Given the description of an element on the screen output the (x, y) to click on. 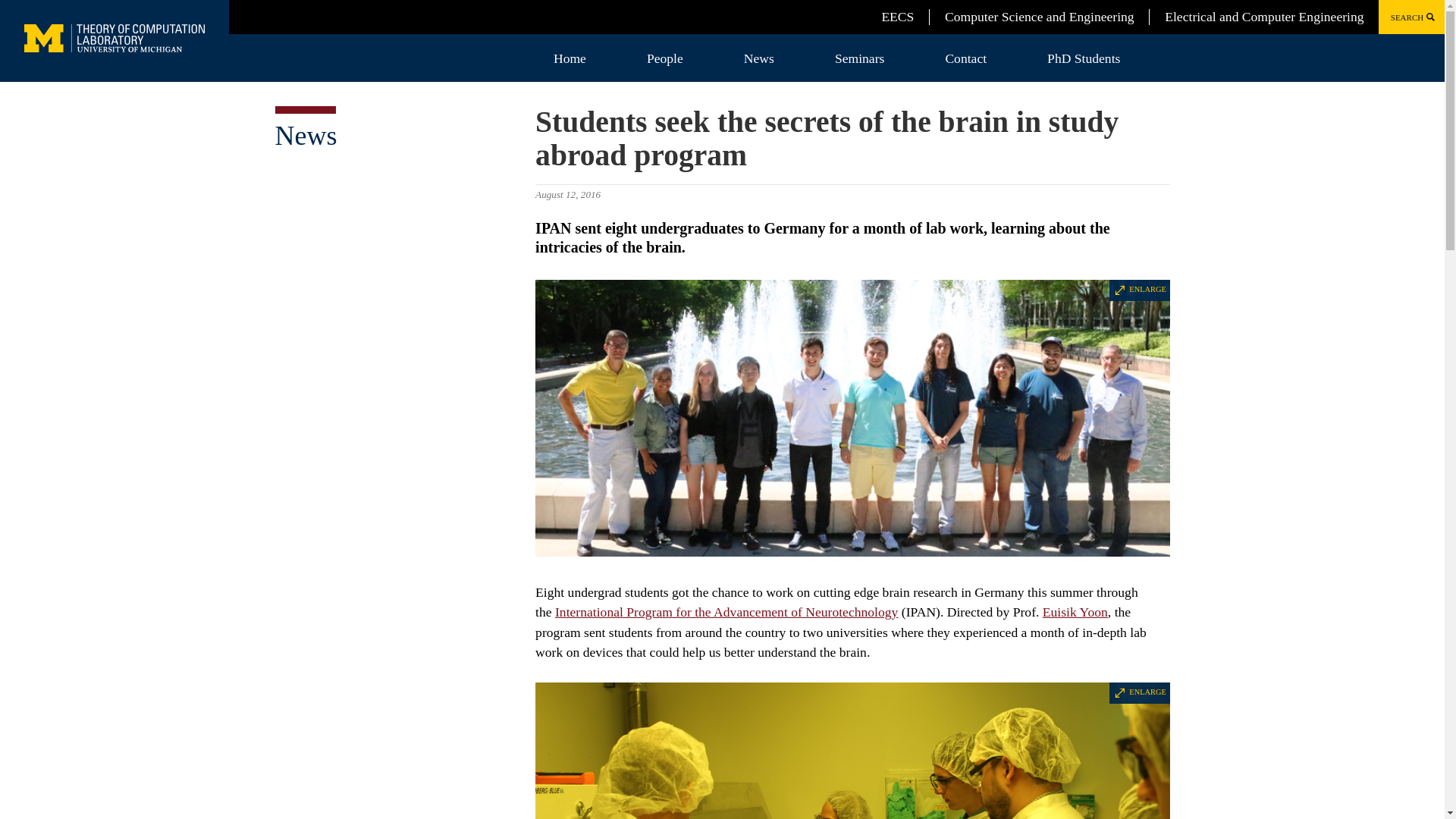
Electrical and Computer Engineering (1263, 16)
EECS (897, 16)
News (305, 135)
People (664, 57)
Seminars (859, 57)
Home (569, 57)
Computer Science and Engineering (1039, 16)
News (759, 57)
International Program for the Advancement of Neurotechnology (726, 611)
Euisik Yoon (1075, 611)
Contact (965, 57)
PhD Students (1083, 57)
